Given the description of an element on the screen output the (x, y) to click on. 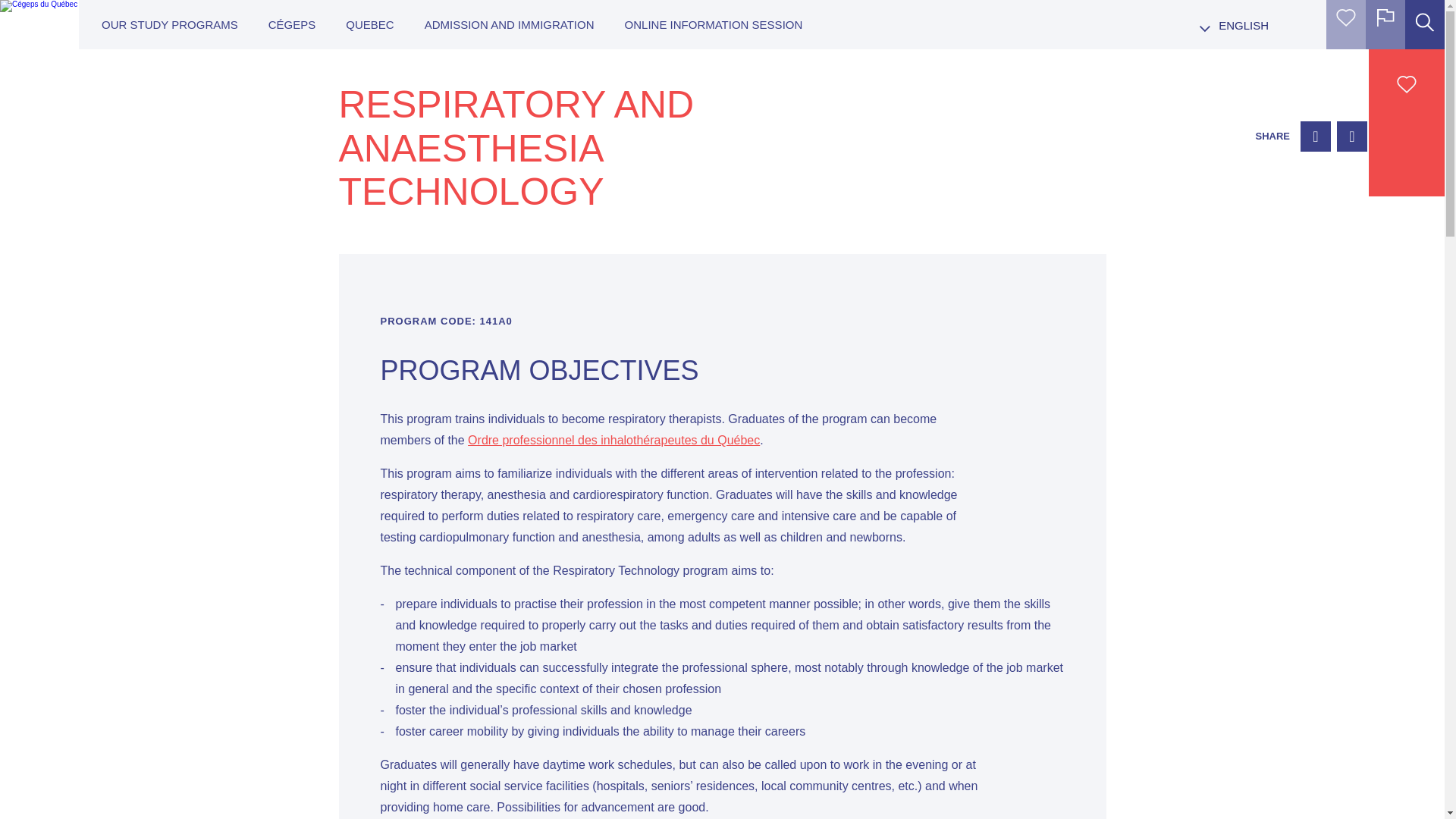
OUR STUDY PROGRAMS (169, 24)
QUEBEC (369, 24)
